Given the description of an element on the screen output the (x, y) to click on. 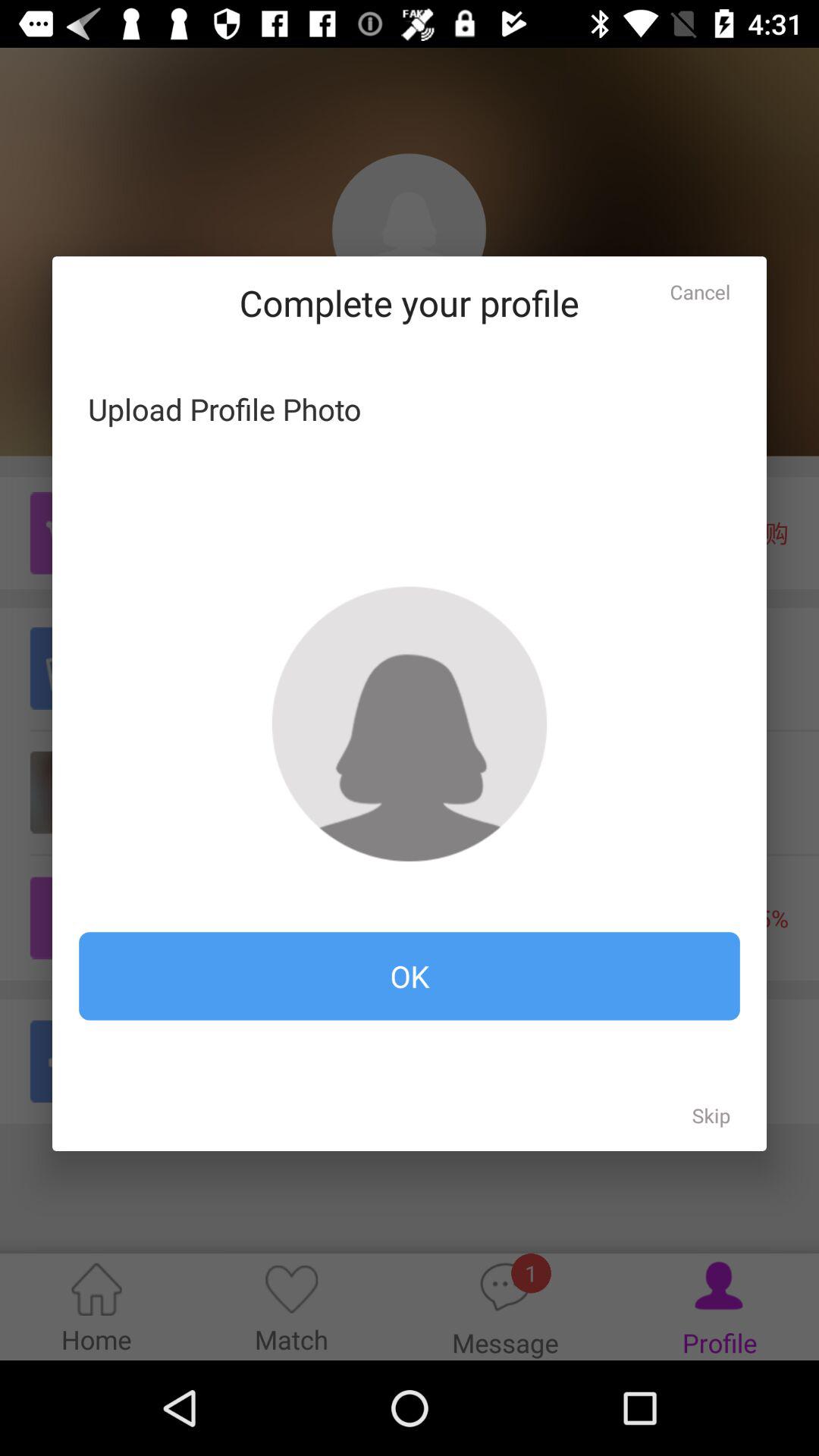
open ok (409, 976)
